Given the description of an element on the screen output the (x, y) to click on. 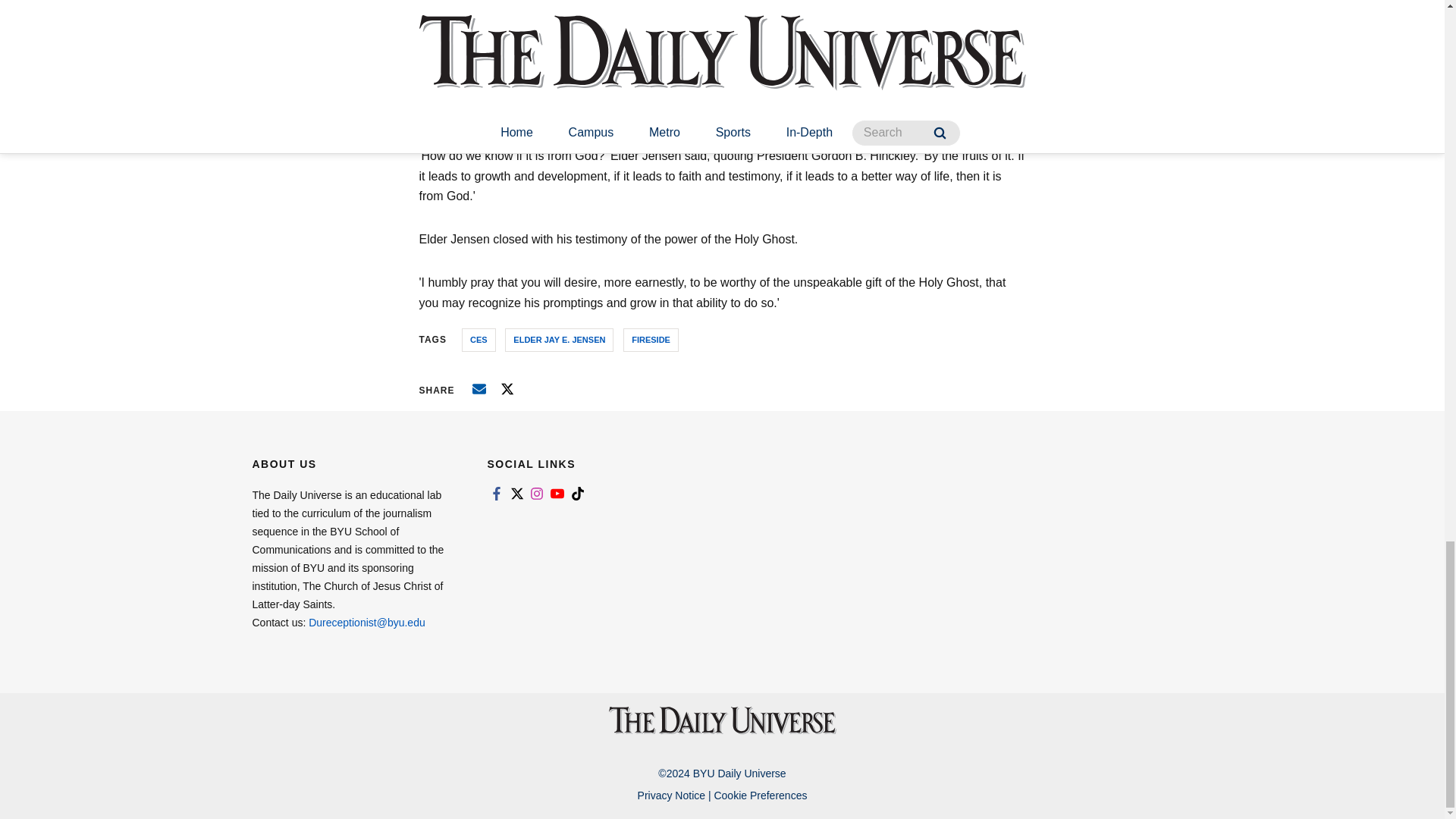
Link to facebook (495, 493)
CES (478, 340)
Link to tiktok (577, 493)
Link to instagram (536, 493)
Link to youtube (557, 493)
Cookie Preferences (759, 795)
Privacy Notice (670, 795)
Link to twitter (515, 493)
Email (478, 388)
FIRESIDE (650, 340)
